Given the description of an element on the screen output the (x, y) to click on. 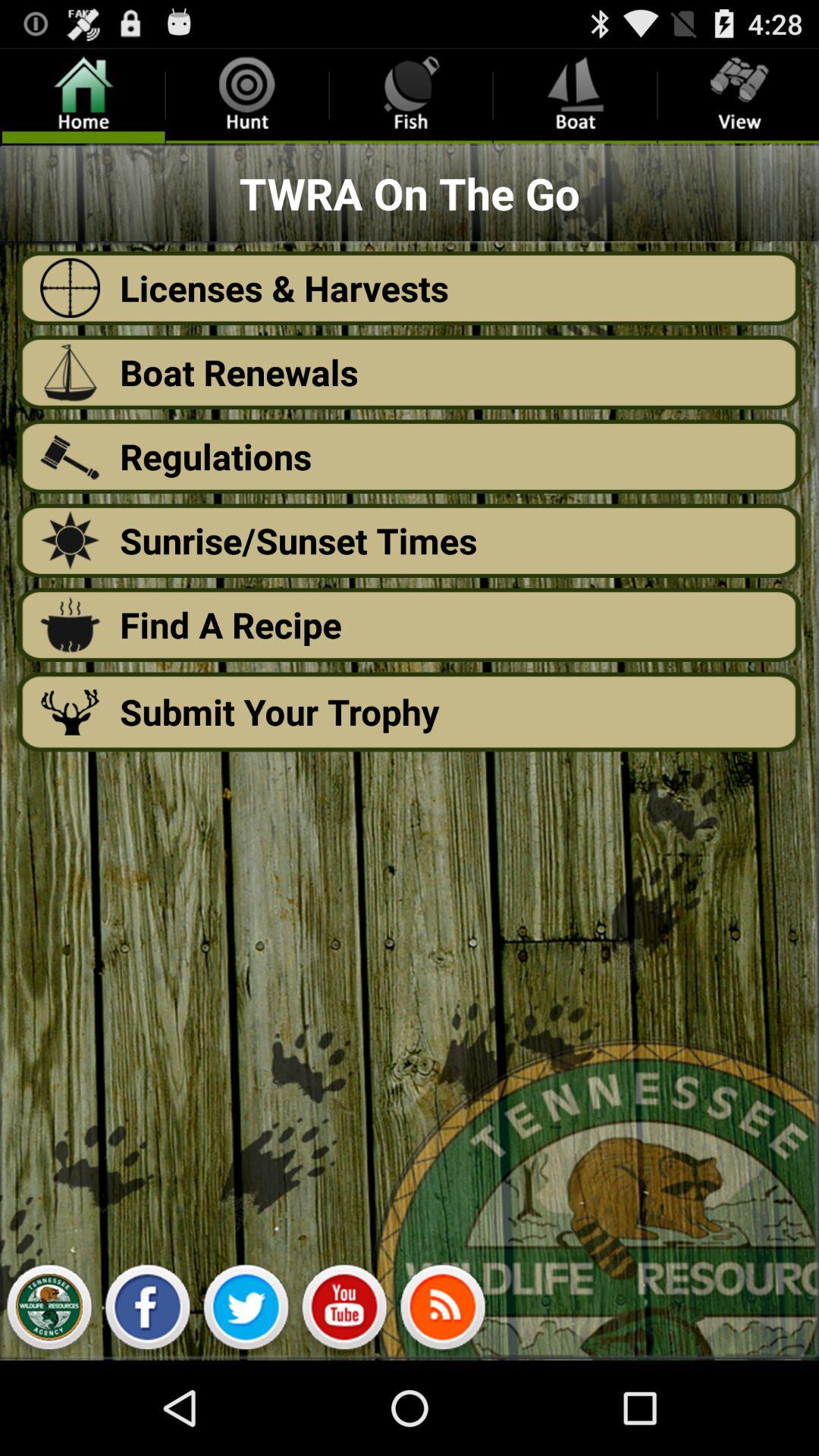
go to facebook page (147, 1311)
